Given the description of an element on the screen output the (x, y) to click on. 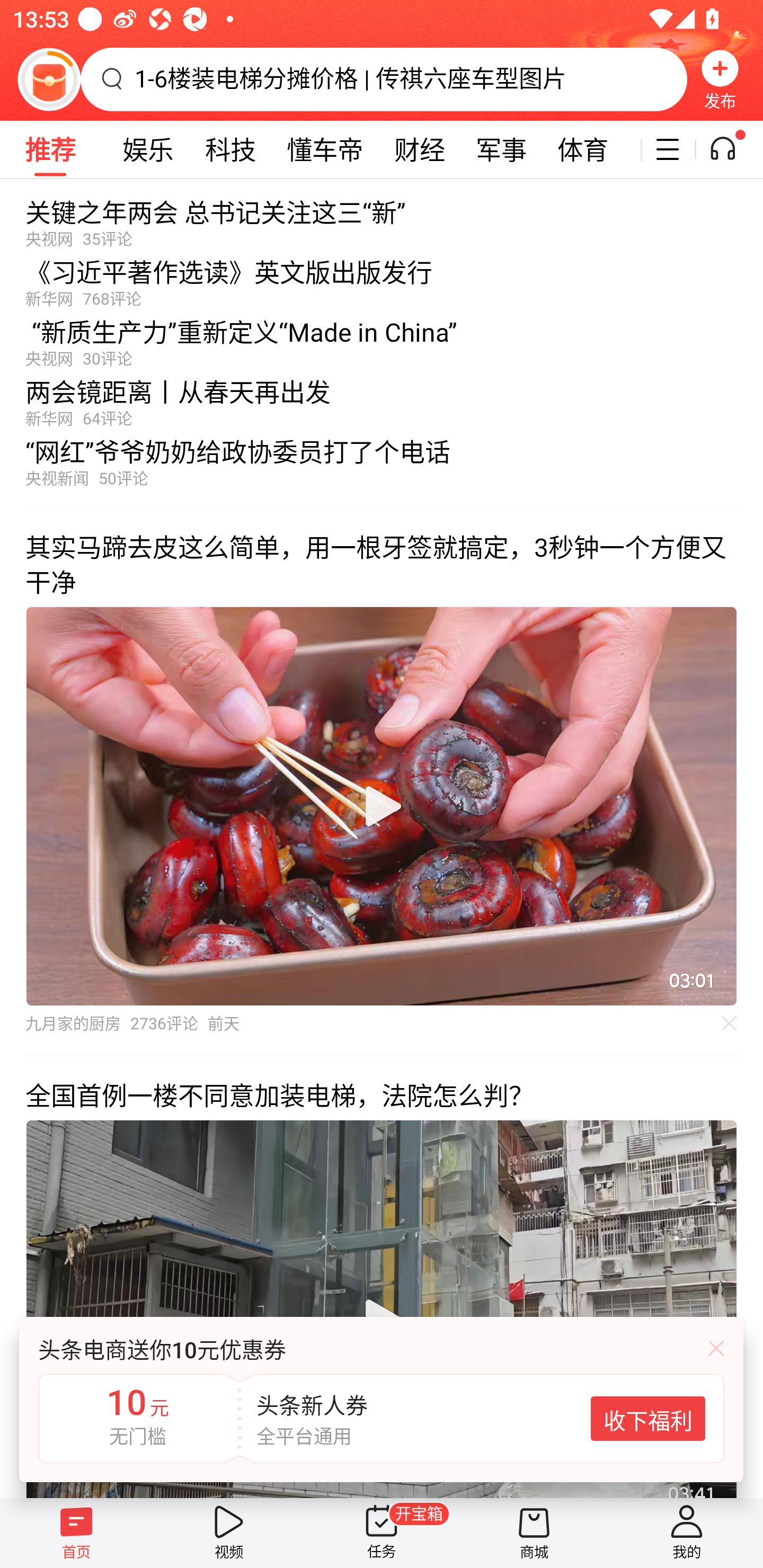
阅读赚金币 (48, 79)
1-6楼装电梯分摊价格 | 传祺六座车型图片 搜索框，1-6楼装电梯分摊价格 | 传祺六座车型图片 (383, 79)
发布 发布，按钮 (720, 78)
推荐 (49, 149)
娱乐 (147, 149)
科技 (230, 149)
懂车帝 (324, 149)
财经 (419, 149)
军事 (500, 149)
体育 (582, 149)
听一听开关 (732, 149)
两会镜距离丨从春天再出发新华网64评论 文章 两会镜距离丨从春天再出发 新华网64评论 (381, 398)
播放视频 视频播放器，双击屏幕打开播放控制 (381, 805)
播放视频 (381, 806)
不感兴趣 (729, 1023)
全国首例一楼不同意加装电梯，法院怎么判？ 播放视频 视频播放器，双击屏幕打开播放控制 (381, 1276)
收下福利 (647, 1418)
首页 (76, 1532)
视频 (228, 1532)
任务 开宝箱 (381, 1532)
商城 (533, 1532)
我的 (686, 1532)
